Given the description of an element on the screen output the (x, y) to click on. 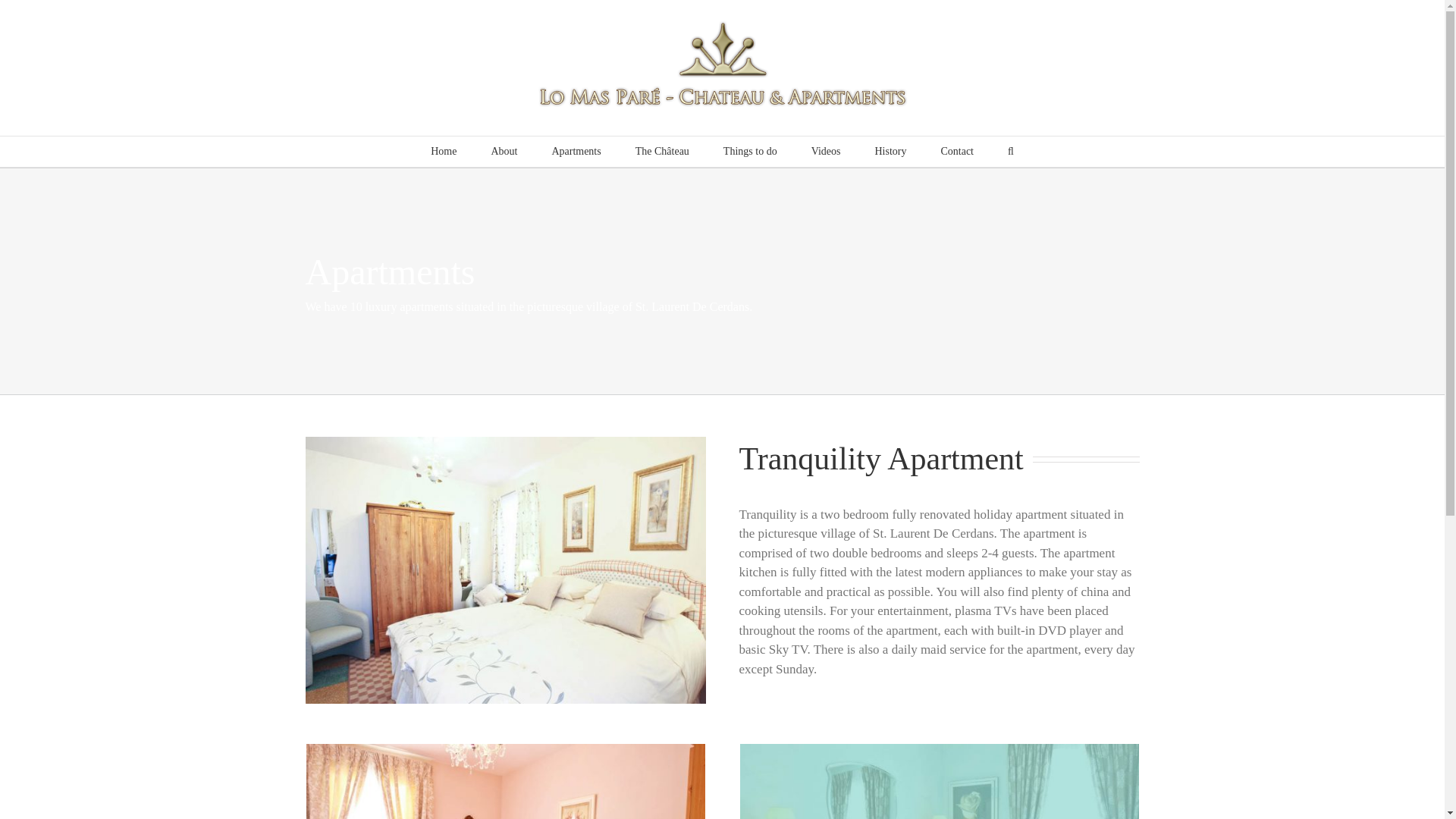
Things to do (750, 151)
Videos (825, 151)
Apartments (575, 151)
History (890, 151)
Anastasia Bedroom (504, 569)
Tranquility bedroom (504, 749)
Contact (957, 151)
